Given the description of an element on the screen output the (x, y) to click on. 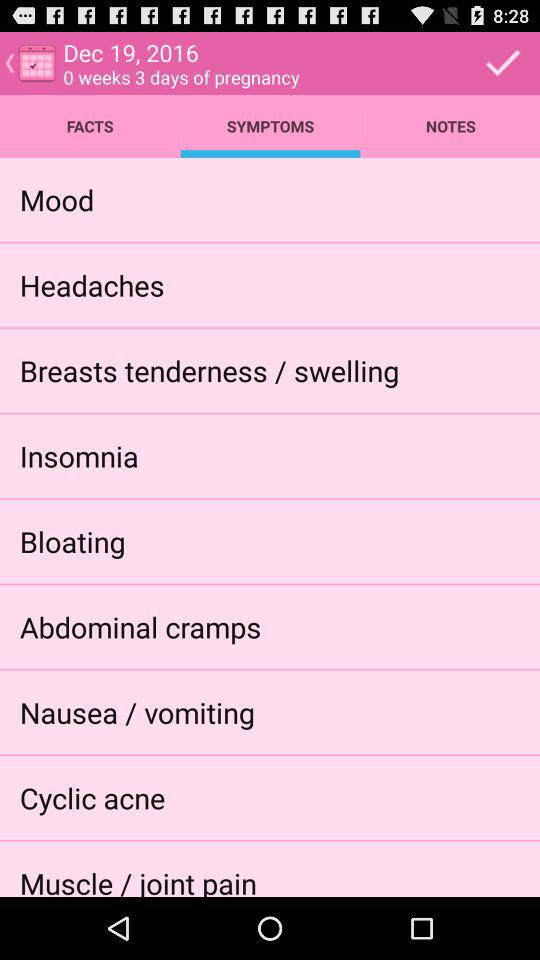
tap the app above the headaches app (56, 199)
